Given the description of an element on the screen output the (x, y) to click on. 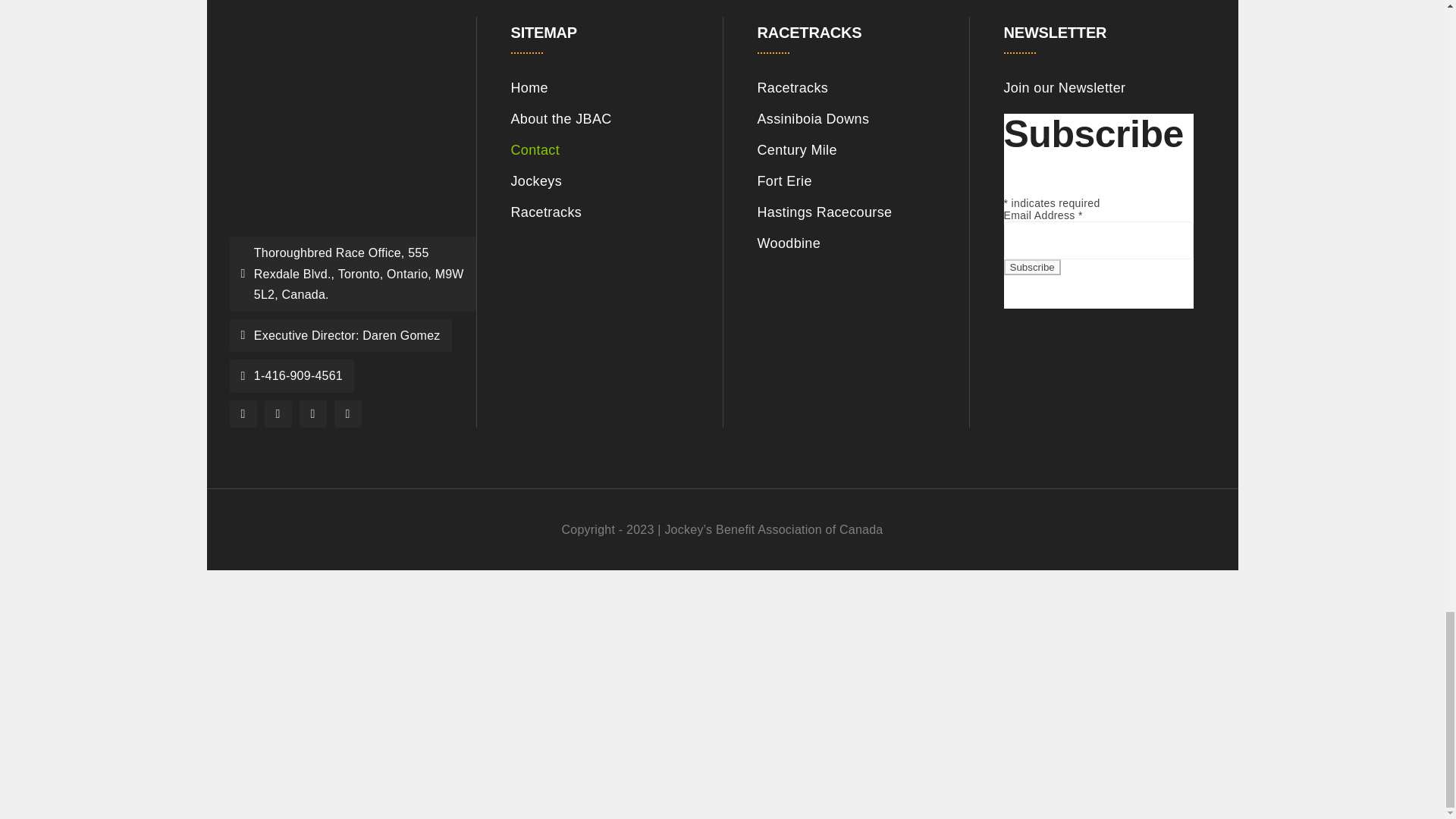
Subscribe (1032, 267)
